Given the description of an element on the screen output the (x, y) to click on. 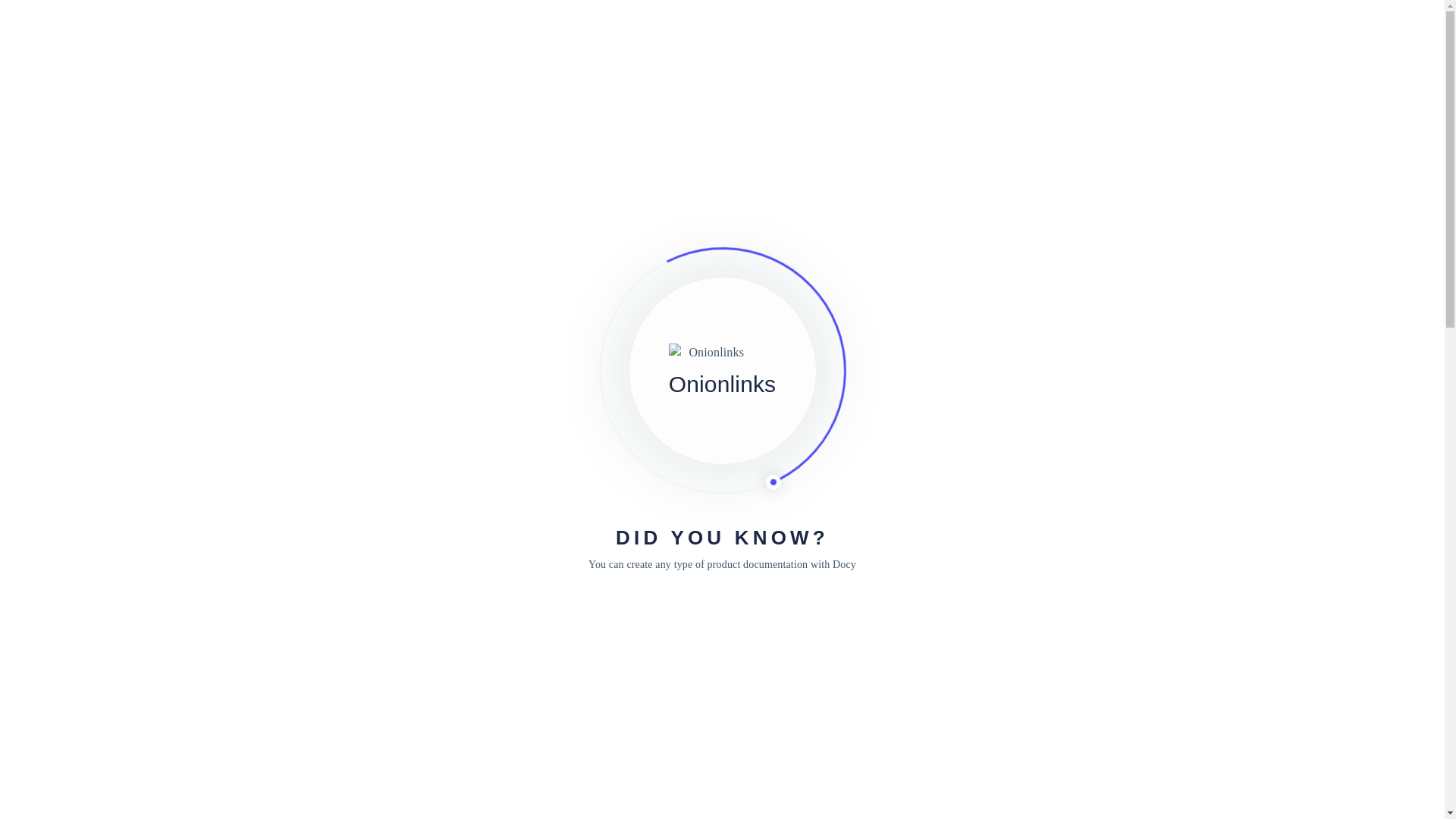
Open TubeOrigin (275, 309)
TubeOrigin (275, 488)
All Porn Sites (892, 168)
Porn Wiki (193, 132)
TubeOrigin Sites (934, 579)
Blog (1173, 30)
Hidden Wiki (220, 30)
